Given the description of an element on the screen output the (x, y) to click on. 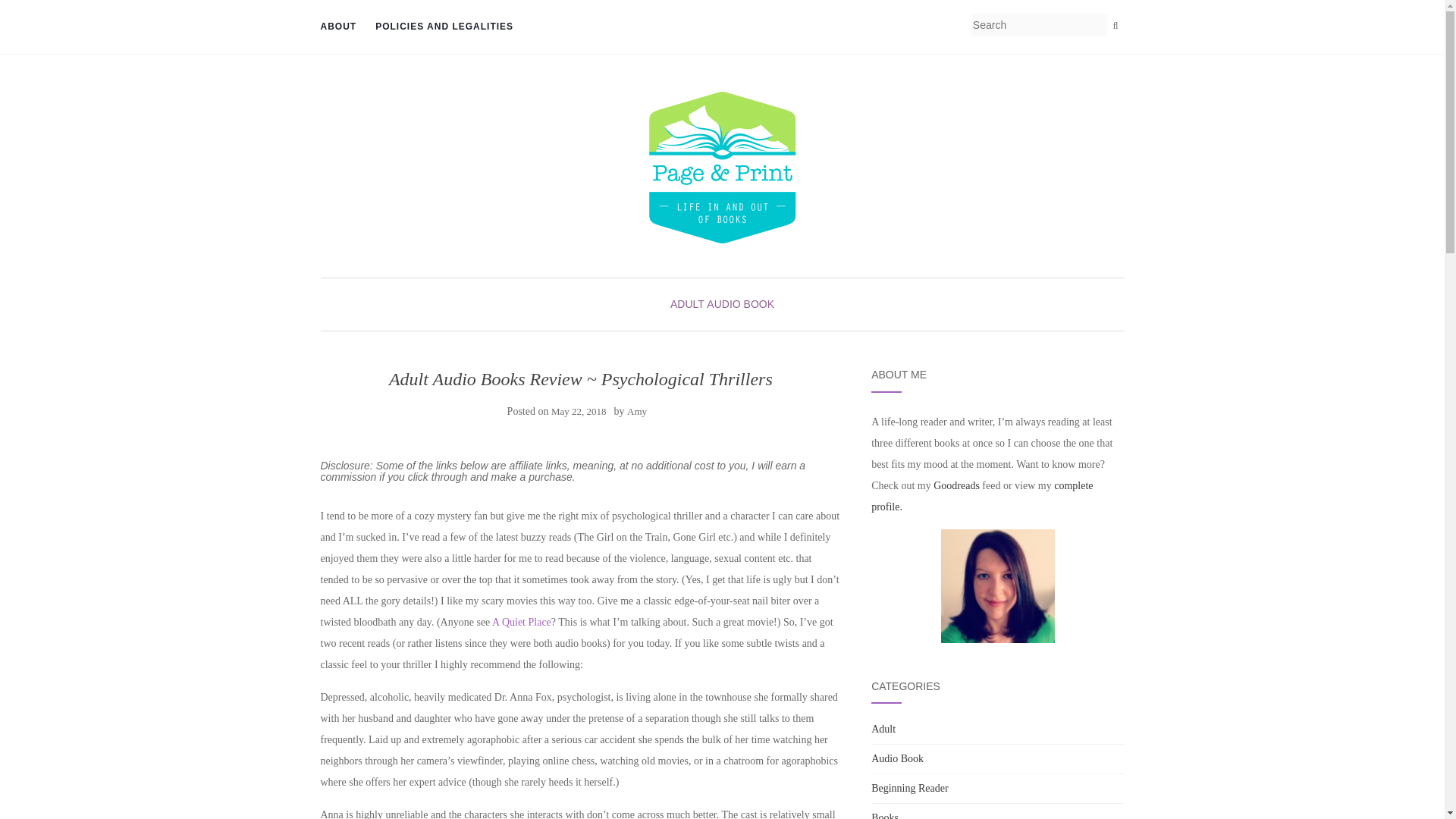
ADULT (686, 304)
A Quiet Place (521, 622)
Amy (636, 410)
Audio Book (896, 758)
May 22, 2018 (579, 410)
AUDIO BOOK (740, 304)
complete profile. (981, 495)
Adult (882, 728)
Books (884, 815)
POLICIES AND LEGALITIES (444, 27)
Goodreads (956, 485)
Beginning Reader (908, 787)
